Given the description of an element on the screen output the (x, y) to click on. 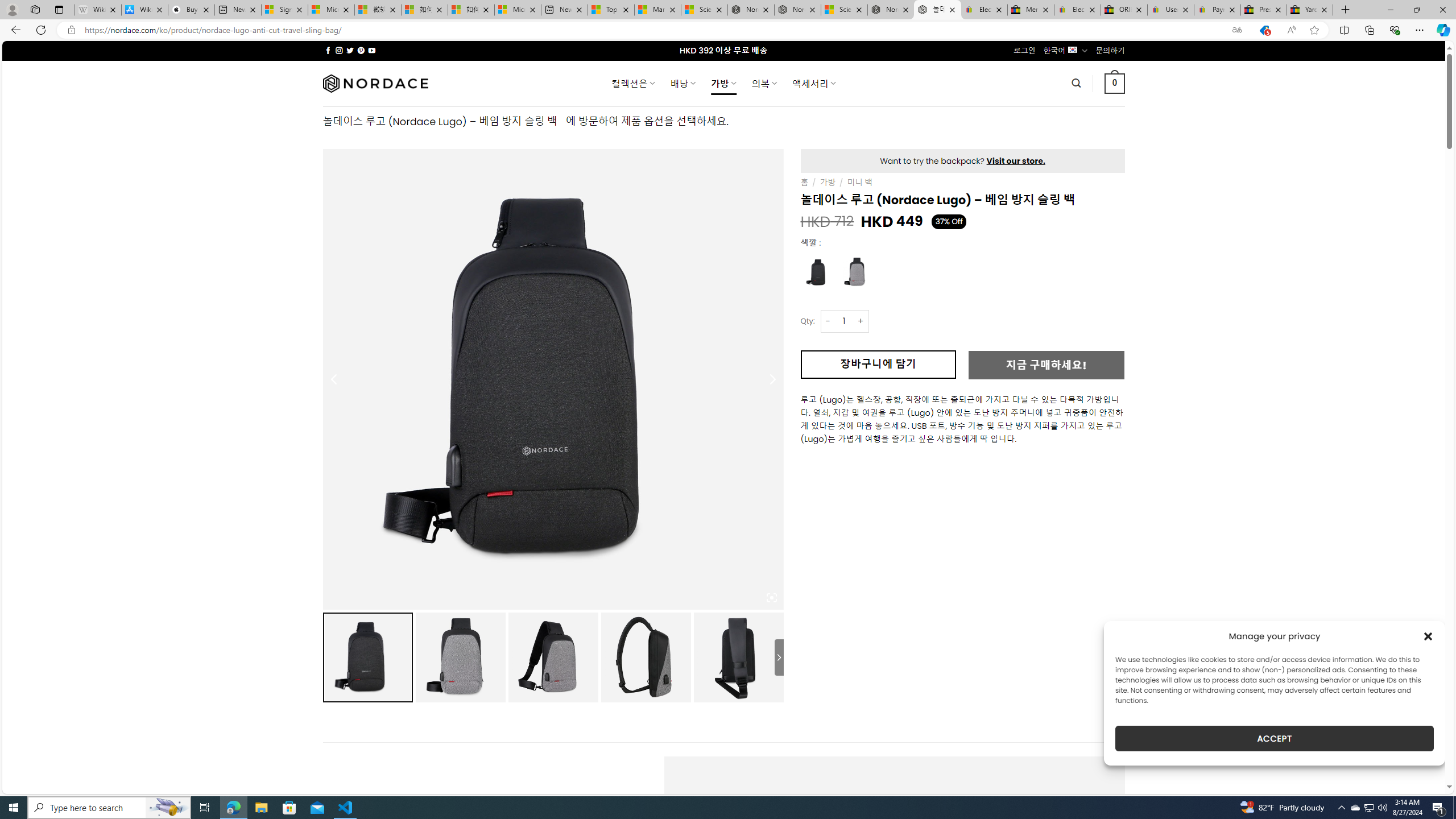
Yard, Garden & Outdoor Living (1309, 9)
Microsoft Services Agreement (330, 9)
Sign in to your Microsoft account (284, 9)
You have the best price! (1263, 29)
Press Room - eBay Inc. (1263, 9)
Microsoft account | Account Checkup (517, 9)
ACCEPT (1274, 738)
